Given the description of an element on the screen output the (x, y) to click on. 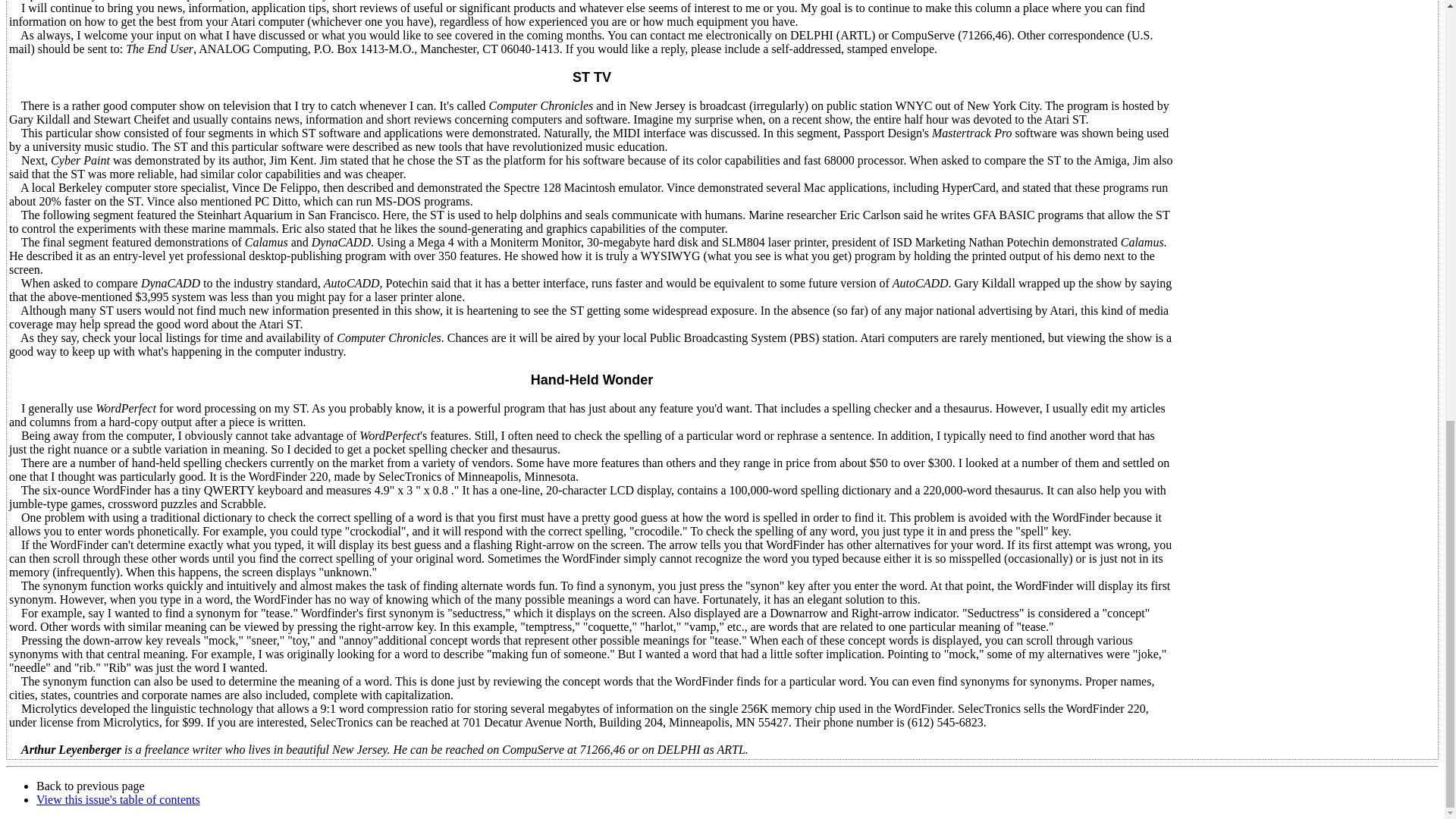
Back to previous page (90, 785)
View this issue's table of contents (118, 799)
